Given the description of an element on the screen output the (x, y) to click on. 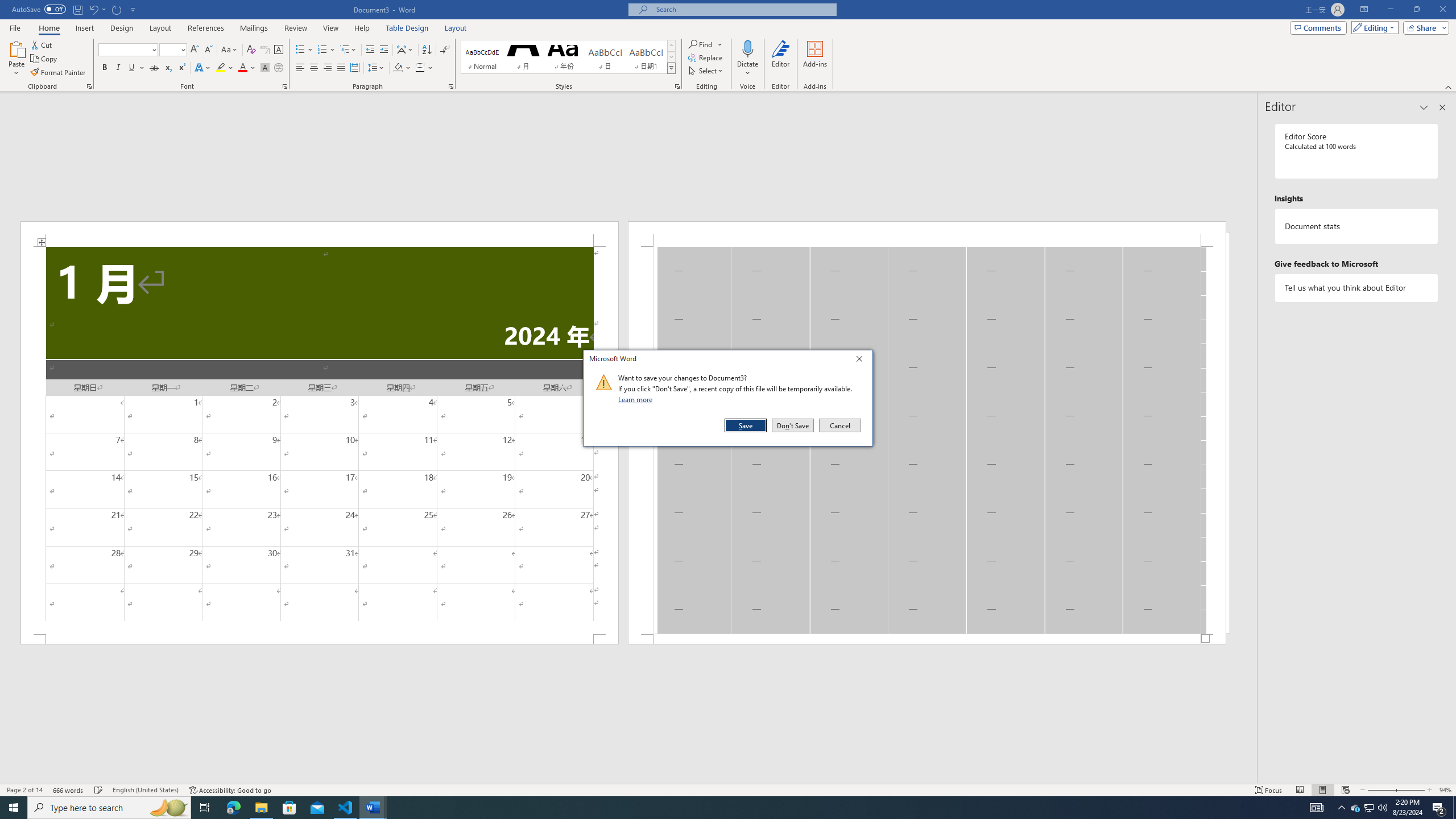
Document statistics (1356, 226)
